Given the description of an element on the screen output the (x, y) to click on. 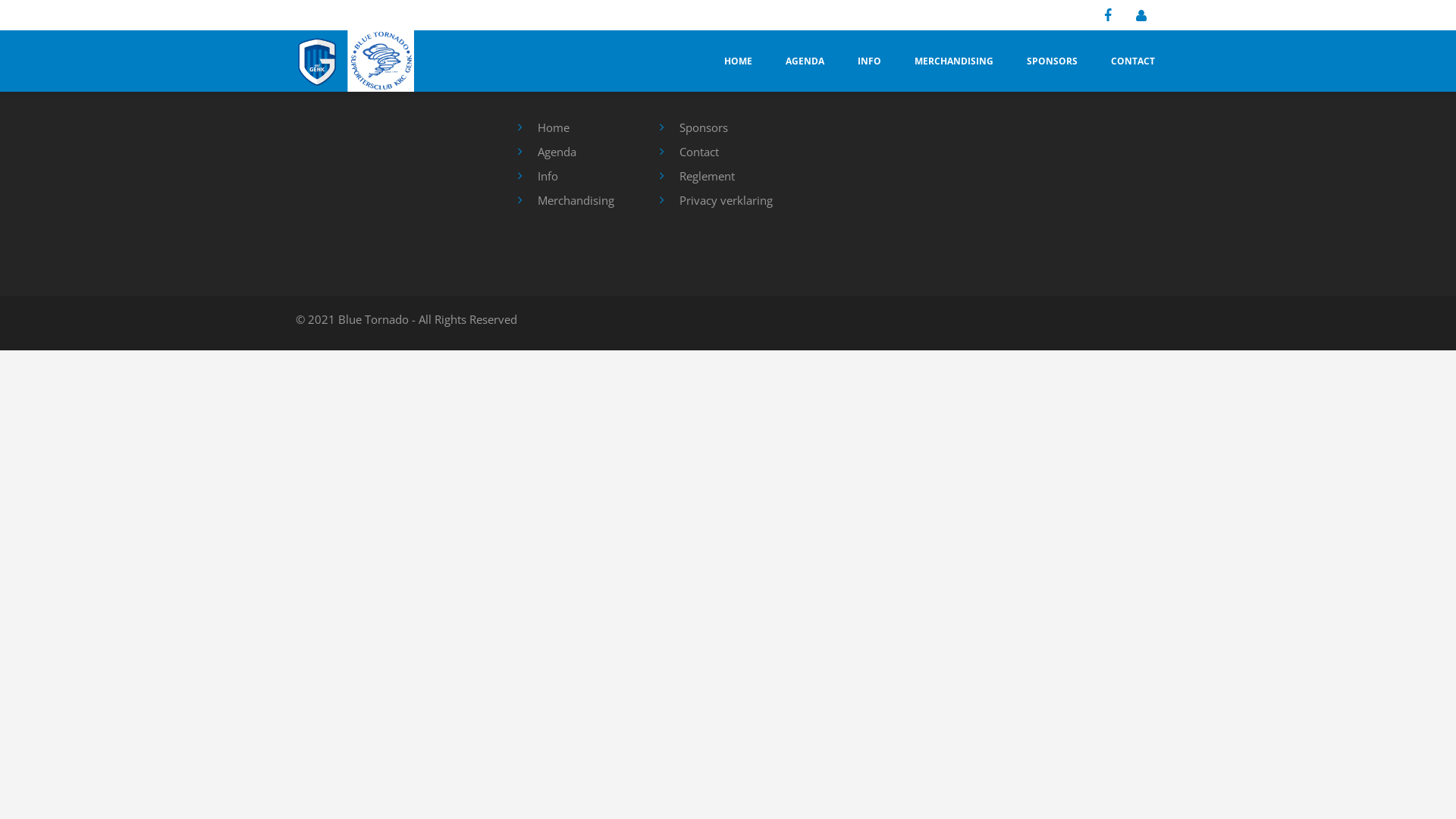
Home Element type: text (552, 126)
INFO Element type: text (868, 60)
MERCHANDISING Element type: text (953, 60)
AGENDA Element type: text (804, 60)
0 Element type: text (20, 30)
Sponsors Element type: text (703, 126)
Reglement Element type: text (706, 175)
HOME Element type: text (737, 60)
Agenda Element type: text (555, 151)
Merchandising Element type: text (574, 199)
Contact Element type: text (698, 151)
0 Element type: text (31, 30)
SPONSORS Element type: text (1052, 60)
Privacy verklaring Element type: text (725, 199)
Info Element type: text (546, 175)
CONTACT Element type: text (1132, 60)
Profiel Element type: hover (1144, 15)
